Given the description of an element on the screen output the (x, y) to click on. 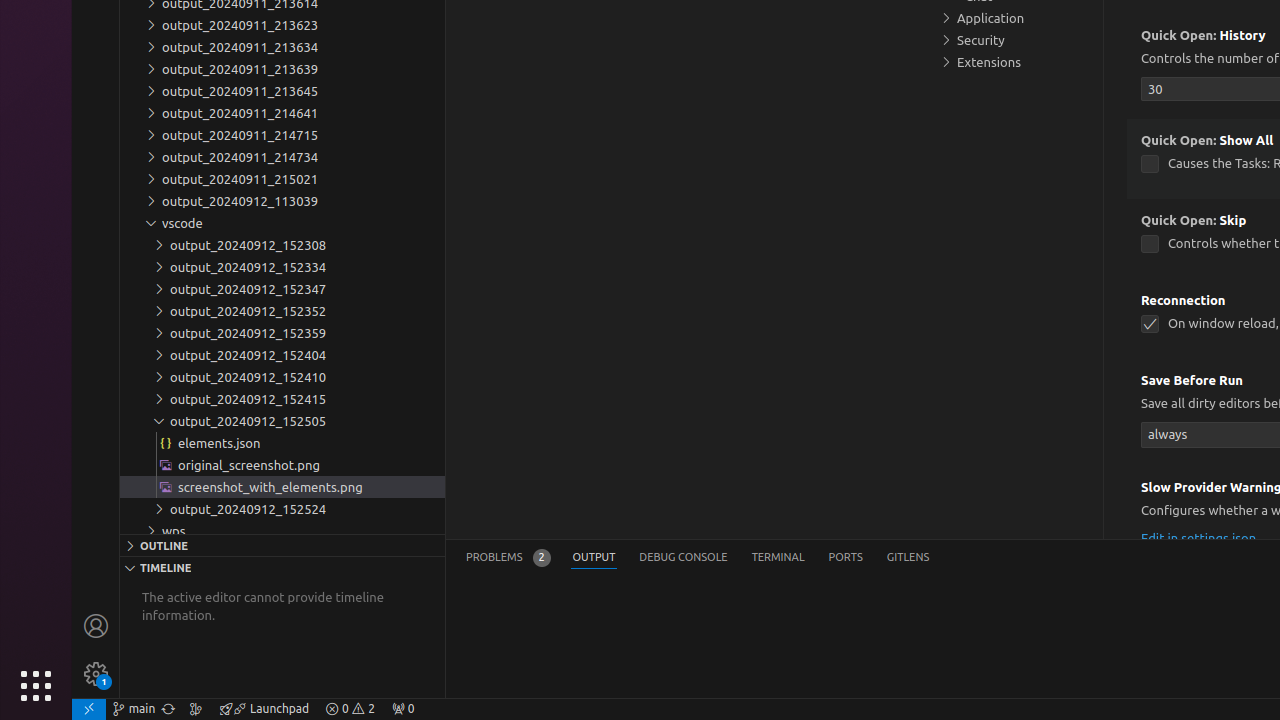
Debug Console (Ctrl+Shift+Y) Element type: page-tab (683, 557)
output_20240911_213639 Element type: tree-item (282, 69)
vscode Element type: tree-item (282, 223)
rocket gitlens-unplug Launchpad, GitLens Launchpad ᴘʀᴇᴠɪᴇᴡ    &mdash;    [$(question)](command:gitlens.launchpad.indicator.action?%22info%22 "What is this?") [$(gear)](command:workbench.action.openSettings?%22gitlens.launchpad%22 "Settings")  |  [$(circle-slash) Hide](command:gitlens.launchpad.indicator.action?%22hide%22 "Hide") --- [Launchpad](command:gitlens.launchpad.indicator.action?%info%22 "Learn about Launchpad") organizes your pull requests into actionable groups to help you focus and keep your team unblocked. It's always accessible using the `GitLens: Open Launchpad` command from the Command Palette. --- [Connect an integration](command:gitlens.showLaunchpad?%7B%22source%22%3A%22launchpad-indicator%22%7D "Connect an integration") to get started. Element type: push-button (264, 709)
Ports Element type: page-tab (845, 557)
